Given the description of an element on the screen output the (x, y) to click on. 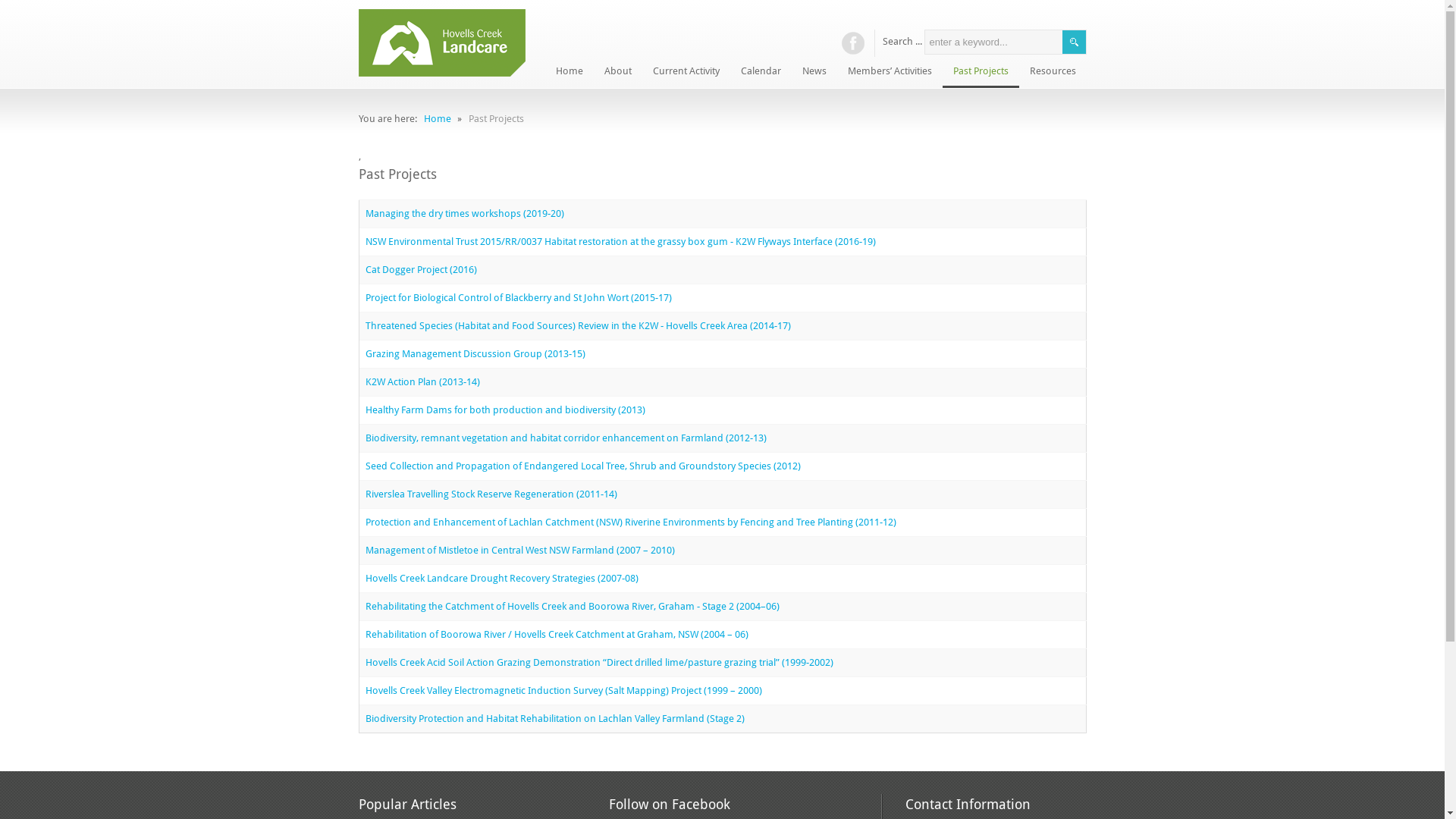
Riverslea Travelling Stock Reserve Regeneration (2011-14) Element type: text (491, 493)
Calendar Element type: text (759, 71)
Home Element type: text (568, 71)
Cat Dogger Project (2016) Element type: text (420, 269)
Grazing Management Discussion Group (2013-15) Element type: text (475, 353)
Past Projects Element type: text (979, 71)
  Element type: text (852, 42)
K2W Action Plan (2013-14) Element type: text (422, 381)
News Element type: text (814, 71)
Resources Element type: text (1052, 71)
Home Element type: text (436, 118)
Current Activity Element type: text (685, 71)
About Element type: text (617, 71)
Managing the dry times workshops (2019-20) Element type: text (464, 213)
Hovells Creek Landcare Drought Recovery Strategies (2007-08) Element type: text (501, 577)
